Given the description of an element on the screen output the (x, y) to click on. 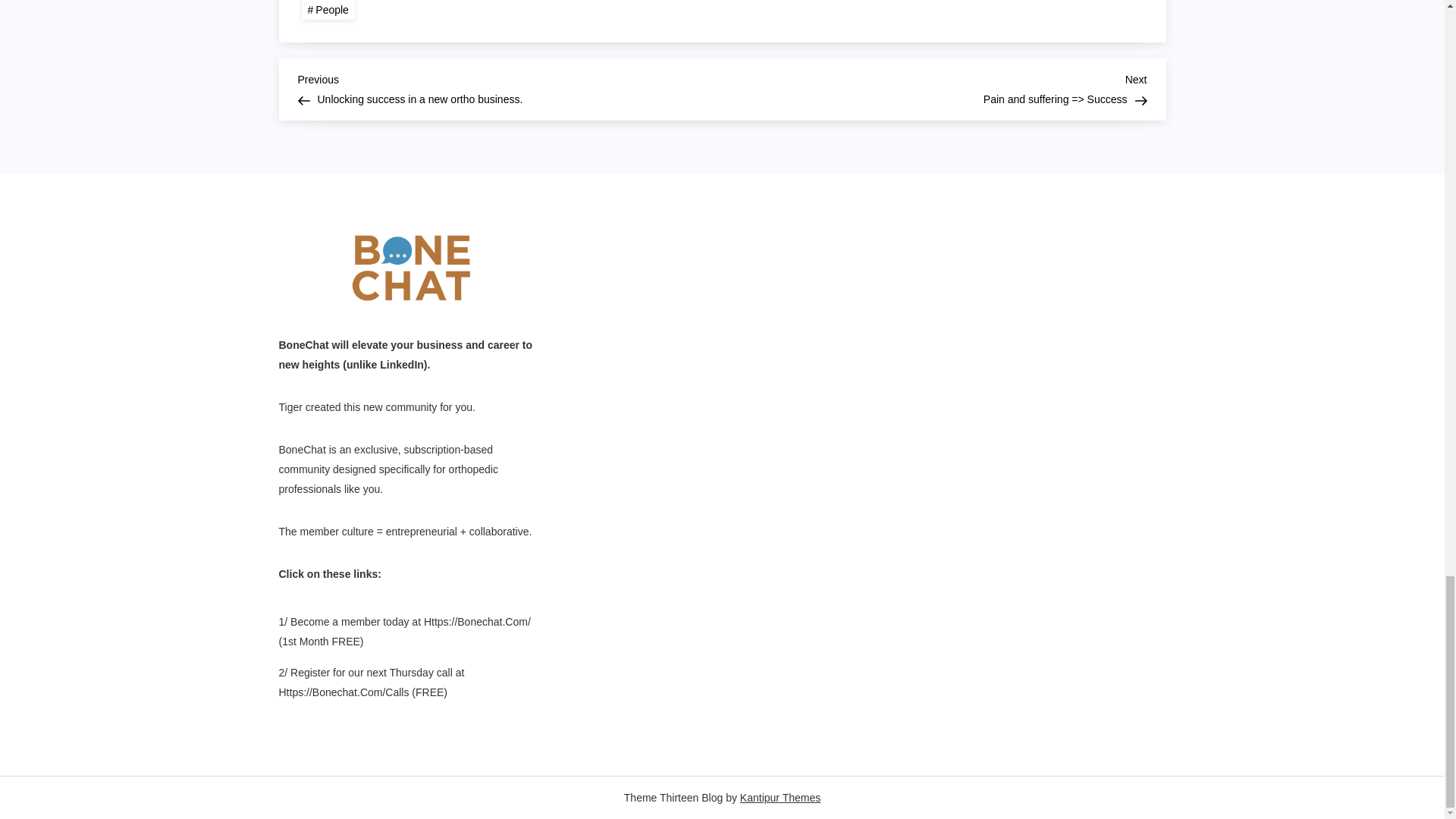
Kantipur Themes (780, 797)
People (328, 9)
